Given the description of an element on the screen output the (x, y) to click on. 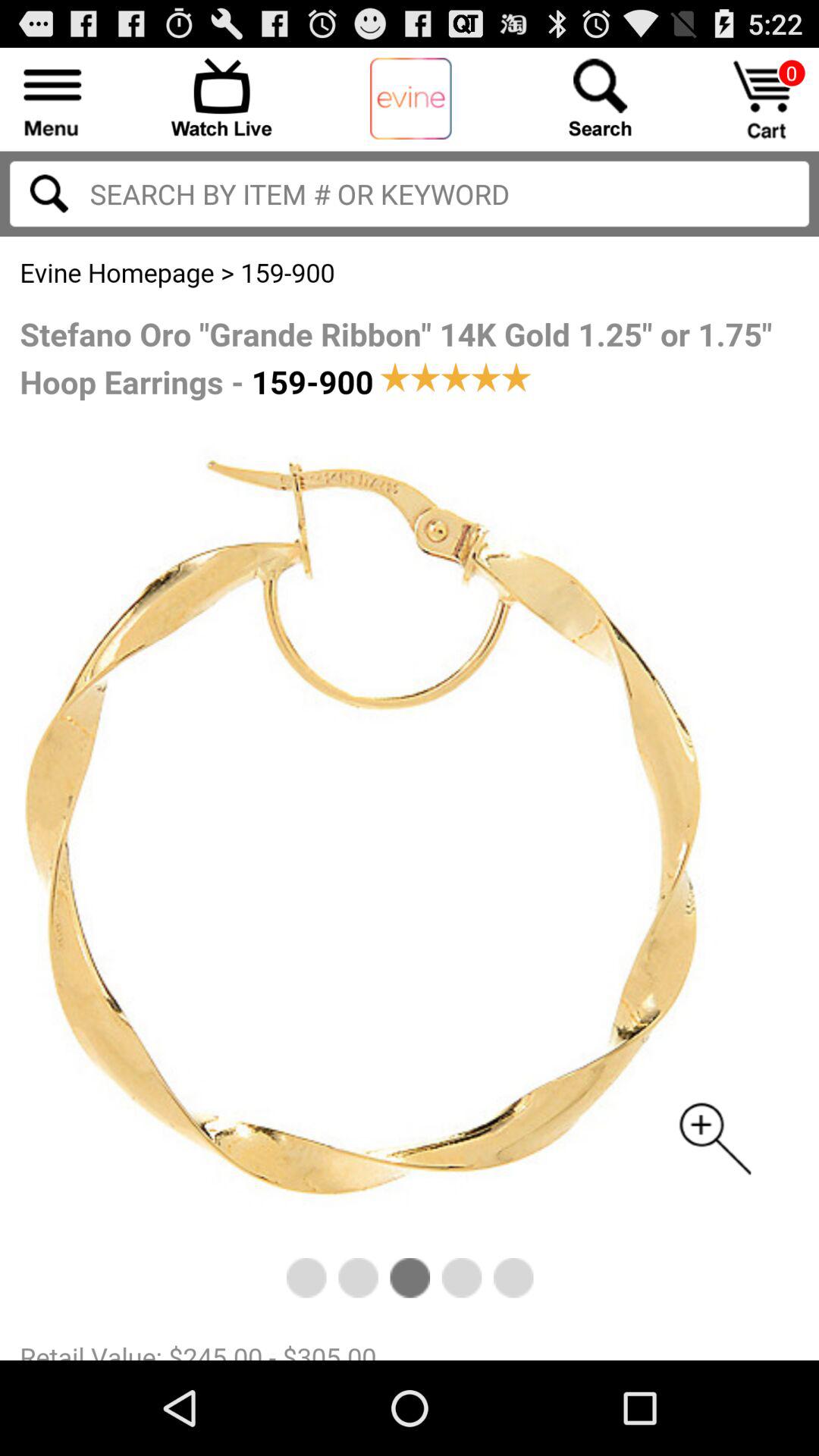
search (409, 193)
